Given the description of an element on the screen output the (x, y) to click on. 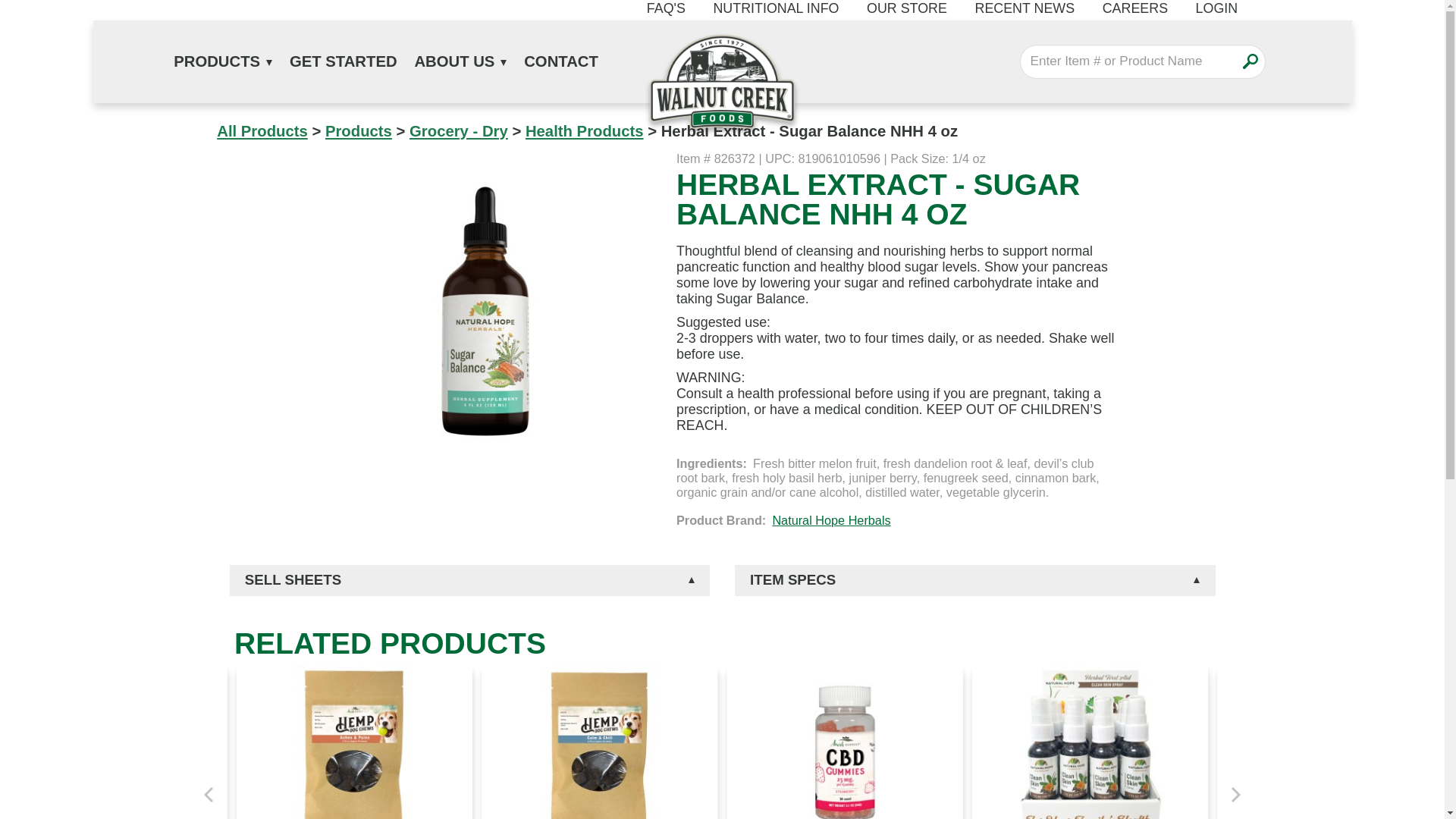
CONTACT (561, 61)
APPLY (1250, 61)
RECENT NEWS (1024, 8)
OUR STORE (906, 8)
ITEM SPECS (975, 580)
FAQ'S (665, 8)
Grocery - Dry (458, 130)
Walnut Creek Foods (721, 84)
LOGIN (1217, 8)
All Products (261, 130)
PRODUCTS (222, 61)
Natural Hope Herbals (830, 520)
SELL SHEETS (469, 580)
CAREERS (1134, 8)
